Given the description of an element on the screen output the (x, y) to click on. 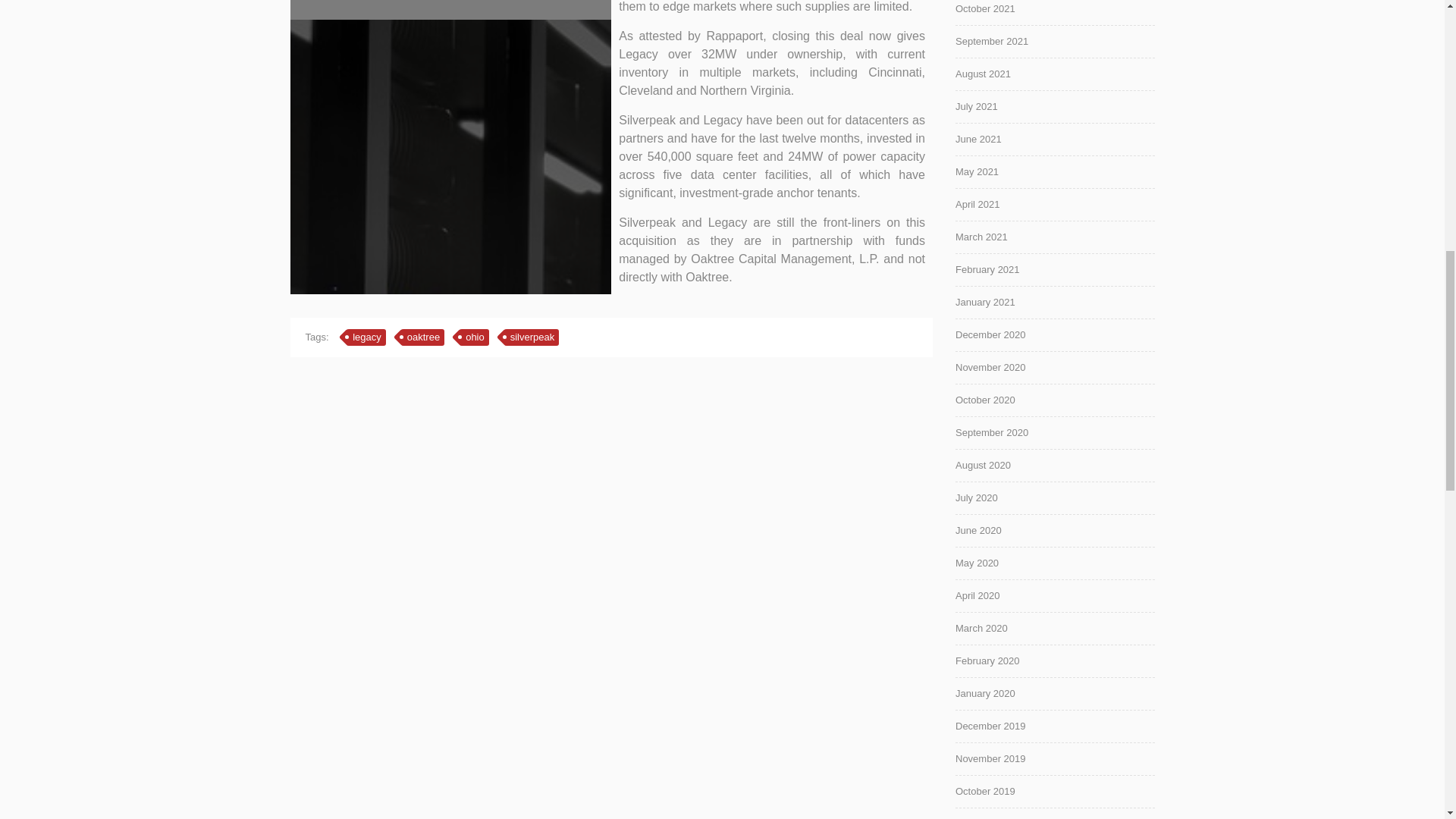
legacy (366, 337)
oaktree (423, 337)
ohio (474, 337)
silverpeak (532, 337)
